Given the description of an element on the screen output the (x, y) to click on. 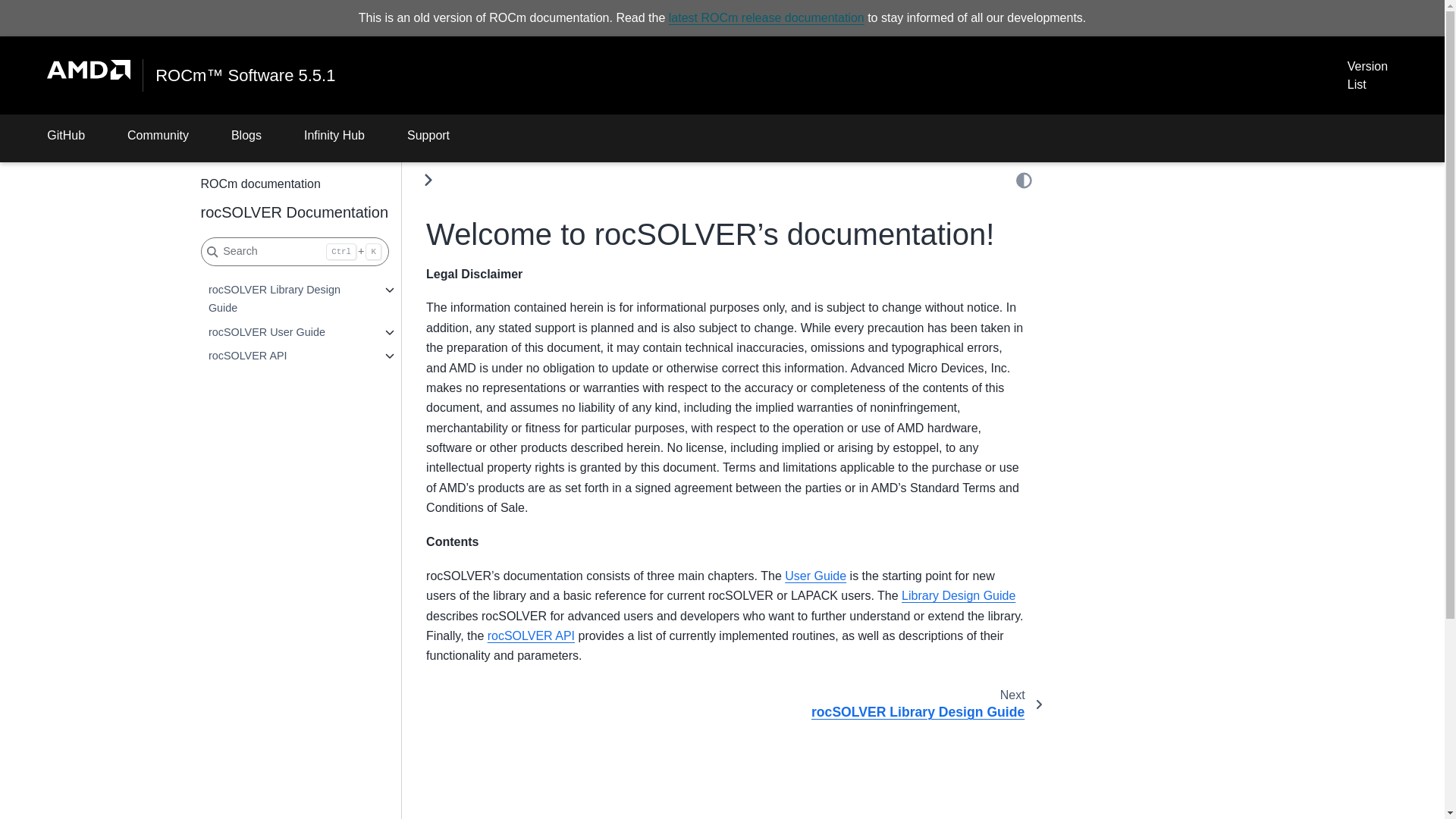
next page (921, 704)
rocSOLVER Library Design Guide (287, 299)
latest ROCm release documentation (766, 17)
rocSOLVER Documentation (294, 212)
AMD Logo (88, 69)
GitHub (65, 137)
Version List (1367, 75)
Support (428, 137)
Infinity Hub (334, 137)
ROCm documentation (294, 184)
rocSOLVER API (287, 355)
rocSOLVER User Guide (287, 332)
Community (158, 137)
